Given the description of an element on the screen output the (x, y) to click on. 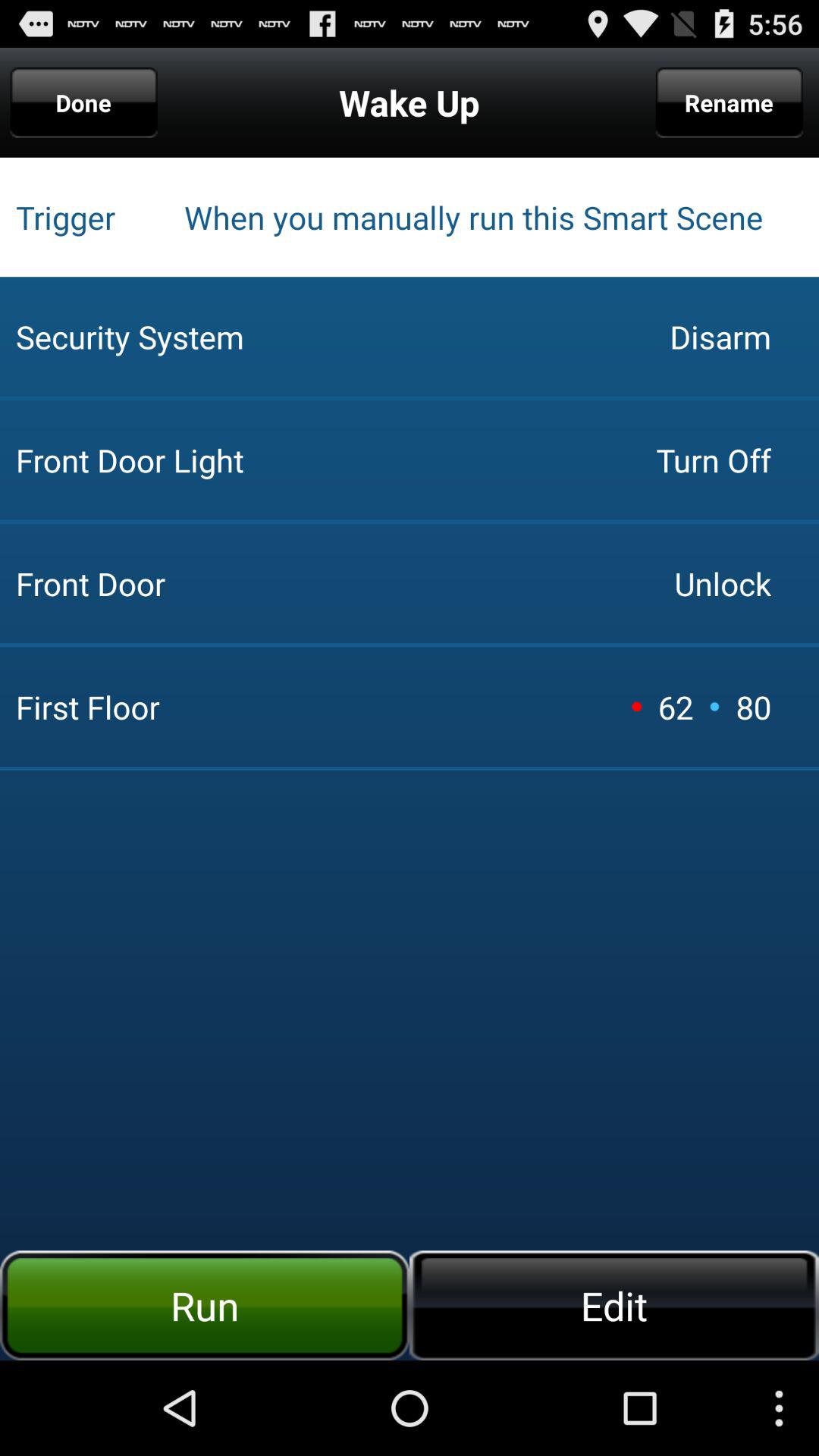
turn off the icon to the right of front door item (675, 706)
